Given the description of an element on the screen output the (x, y) to click on. 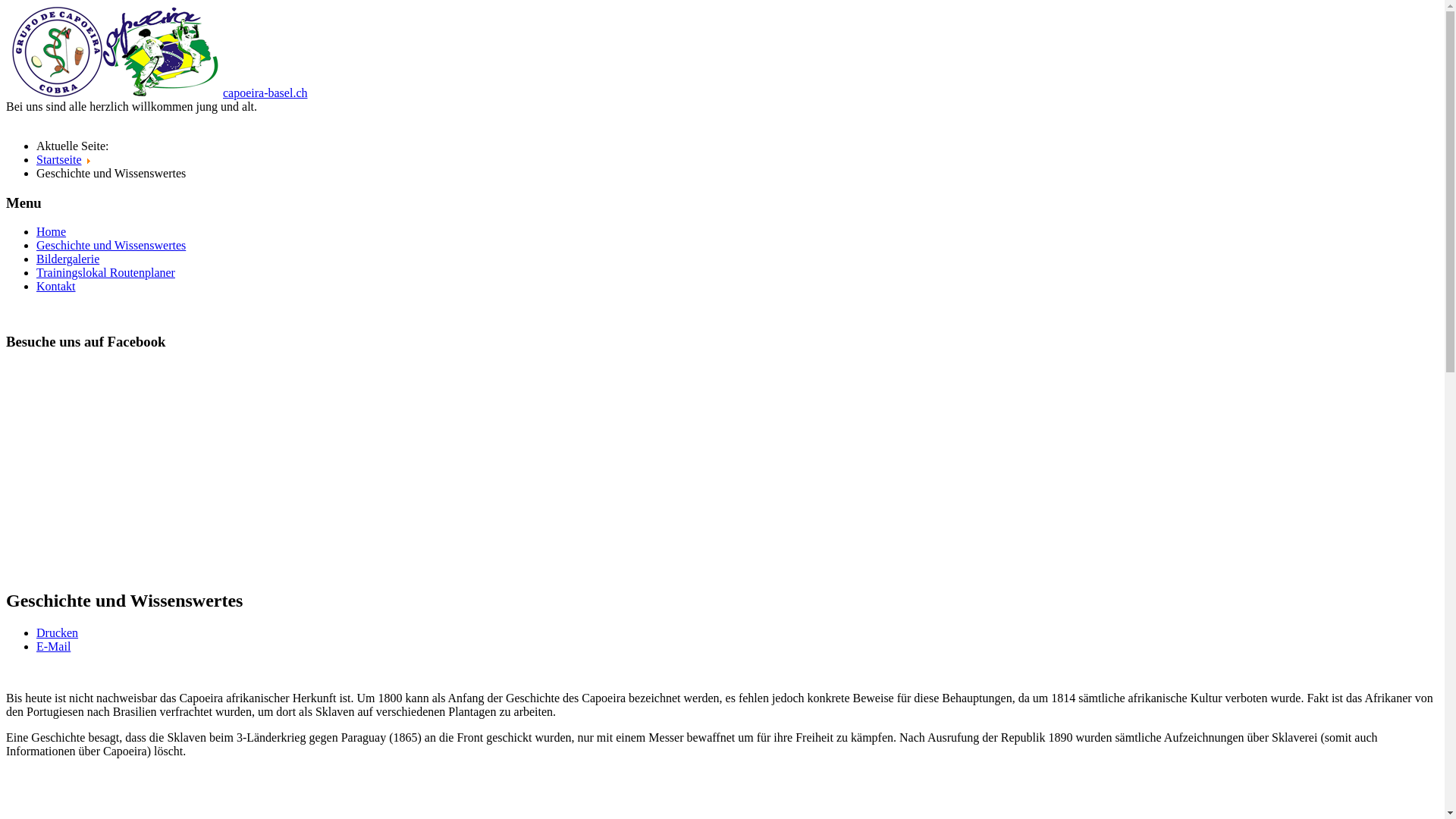
Geschichte und Wissenswertes Element type: text (110, 244)
Trainingslokal Routenplaner Element type: text (105, 272)
Bildergalerie Element type: text (67, 258)
Startseite Element type: text (58, 159)
E-Mail Element type: text (53, 646)
Drucken Element type: text (57, 632)
Kontakt Element type: text (55, 285)
capoeira-basel.ch Element type: text (264, 92)
Home Element type: text (50, 231)
